Given the description of an element on the screen output the (x, y) to click on. 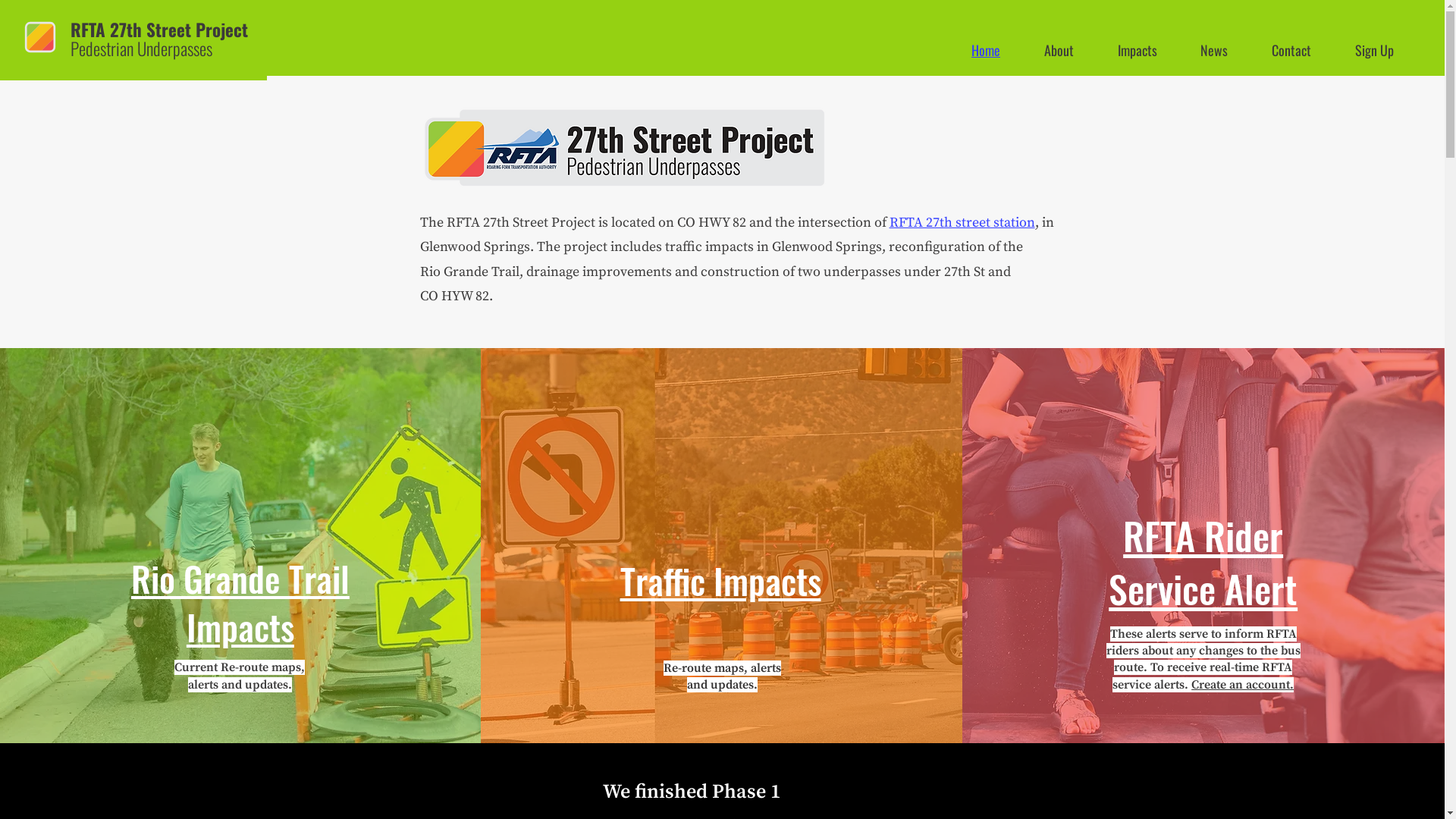
Pedestrian Underpasses Element type: text (141, 48)
Sign Up Element type: text (1390, 49)
RFTA Rider Service Alert Element type: text (1202, 560)
About Element type: text (1074, 49)
Home Element type: text (1001, 49)
Traffic Impacts Element type: text (720, 579)
RFTA 27th Street Project Element type: text (158, 29)
News Element type: text (1229, 49)
RFTA 27th street station Element type: text (961, 222)
Create an account. Element type: text (1242, 684)
Contact Element type: text (1306, 49)
Impacts Element type: text (1152, 49)
Rio Grande Trail Impacts Element type: text (240, 602)
logo reflects stripes and RFTA logo Element type: hover (627, 147)
